Given the description of an element on the screen output the (x, y) to click on. 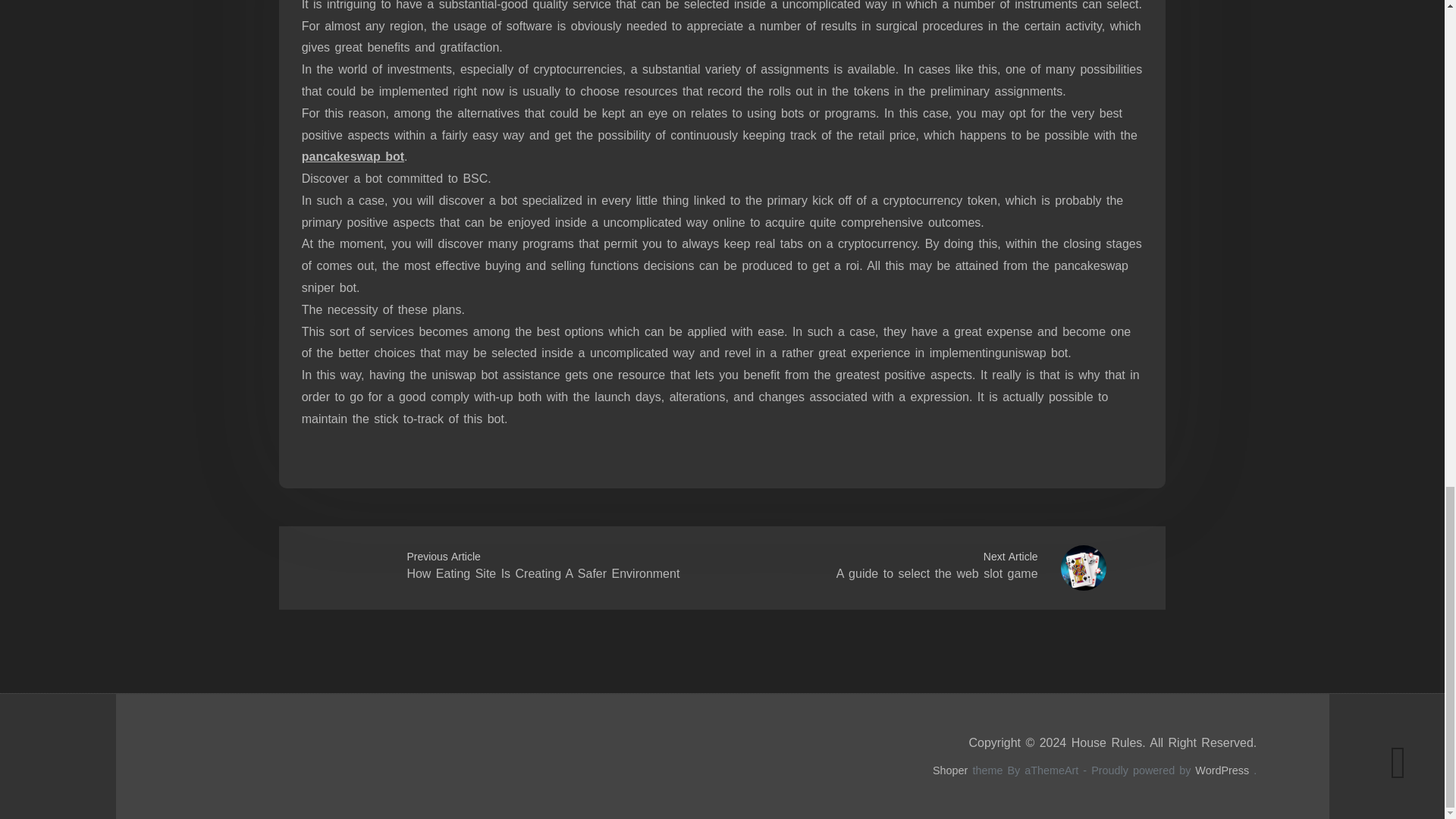
pancakeswap bot (352, 155)
Shoper (950, 770)
How Eating Site Is Creating A Safer Environment (542, 573)
A guide to select the web slot game (936, 573)
WordPress (1222, 770)
